Given the description of an element on the screen output the (x, y) to click on. 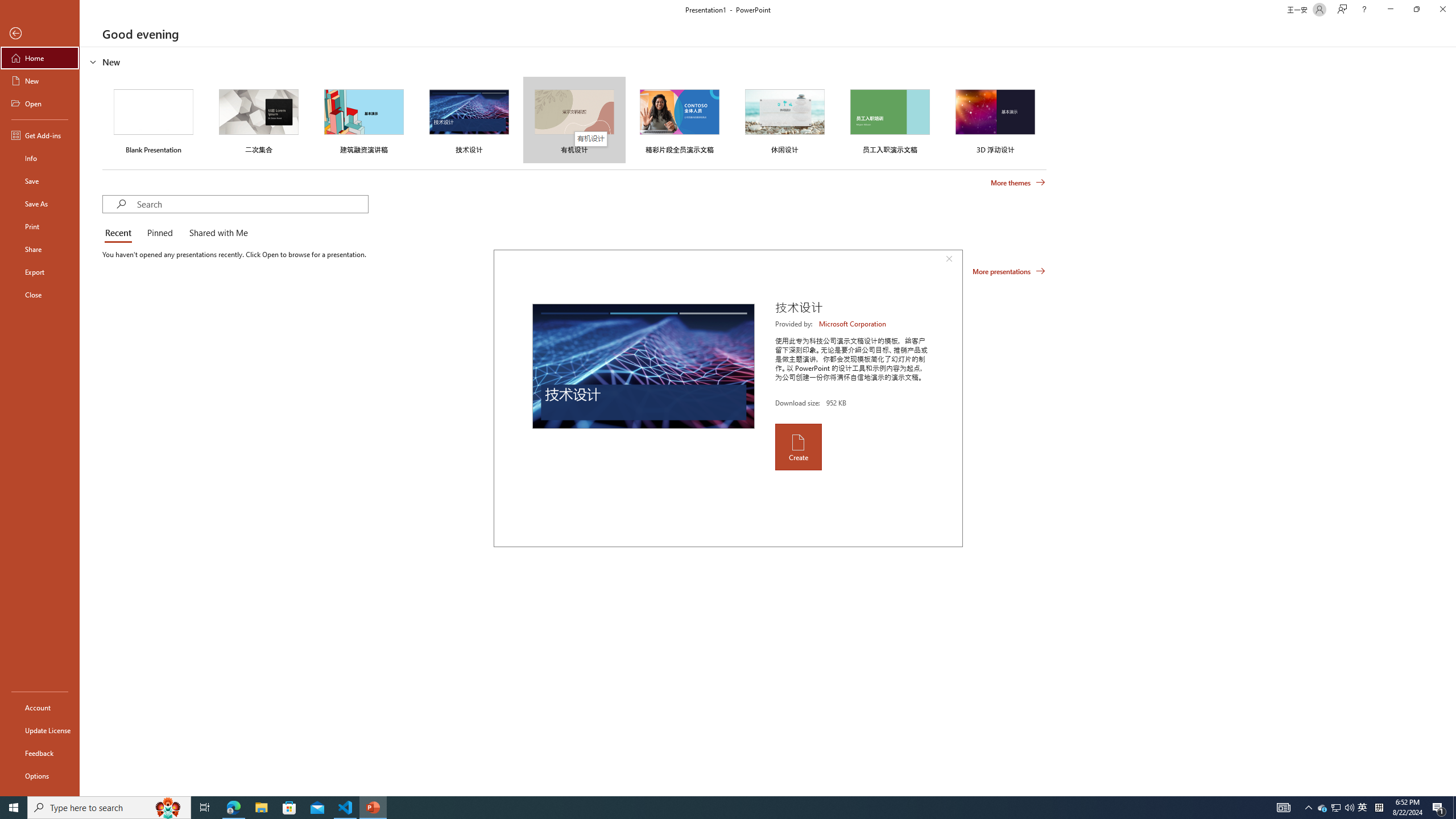
Save As (40, 203)
Pinned (159, 233)
Blank Presentation (153, 119)
Feedback (40, 753)
Microsoft Corporation (853, 323)
Shared with Me (215, 233)
Update License (40, 730)
